Given the description of an element on the screen output the (x, y) to click on. 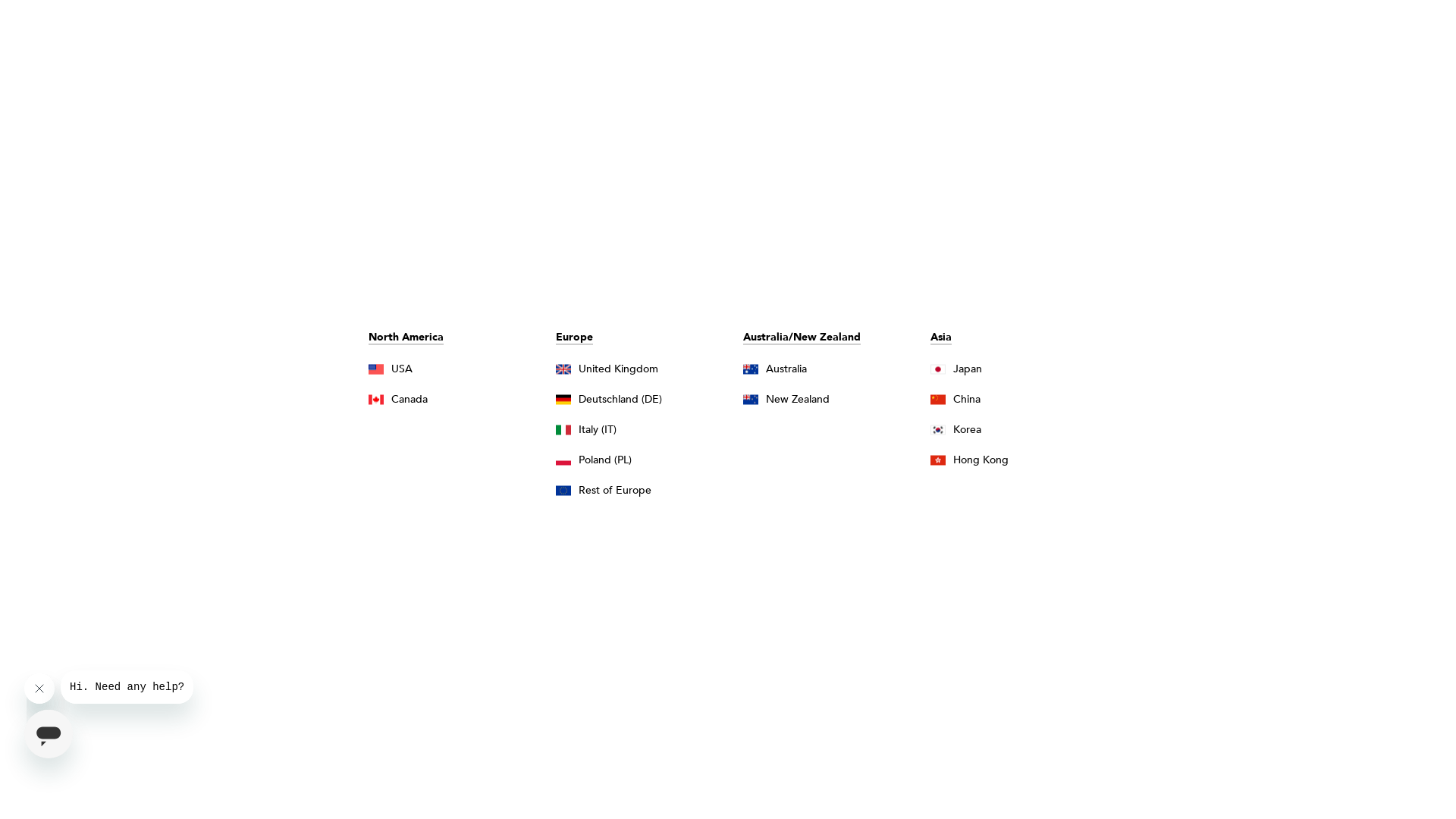
Button to launch messaging window Element type: hover (48, 733)
Rest of Europe Element type: text (641, 489)
Deutschland (DE) Element type: text (641, 398)
Poland (PL) Element type: text (641, 459)
China Element type: text (1016, 398)
Japan Element type: text (1016, 368)
Hong Kong Element type: text (1016, 459)
United Kingdom Element type: text (641, 368)
Korea Element type: text (1016, 429)
Australia Element type: text (829, 368)
Italy (IT) Element type: text (641, 429)
Close message Element type: hover (39, 688)
New Zealand Element type: text (829, 398)
USA Element type: text (454, 368)
Canada Element type: text (454, 398)
Message from company Element type: hover (126, 686)
